Given the description of an element on the screen output the (x, y) to click on. 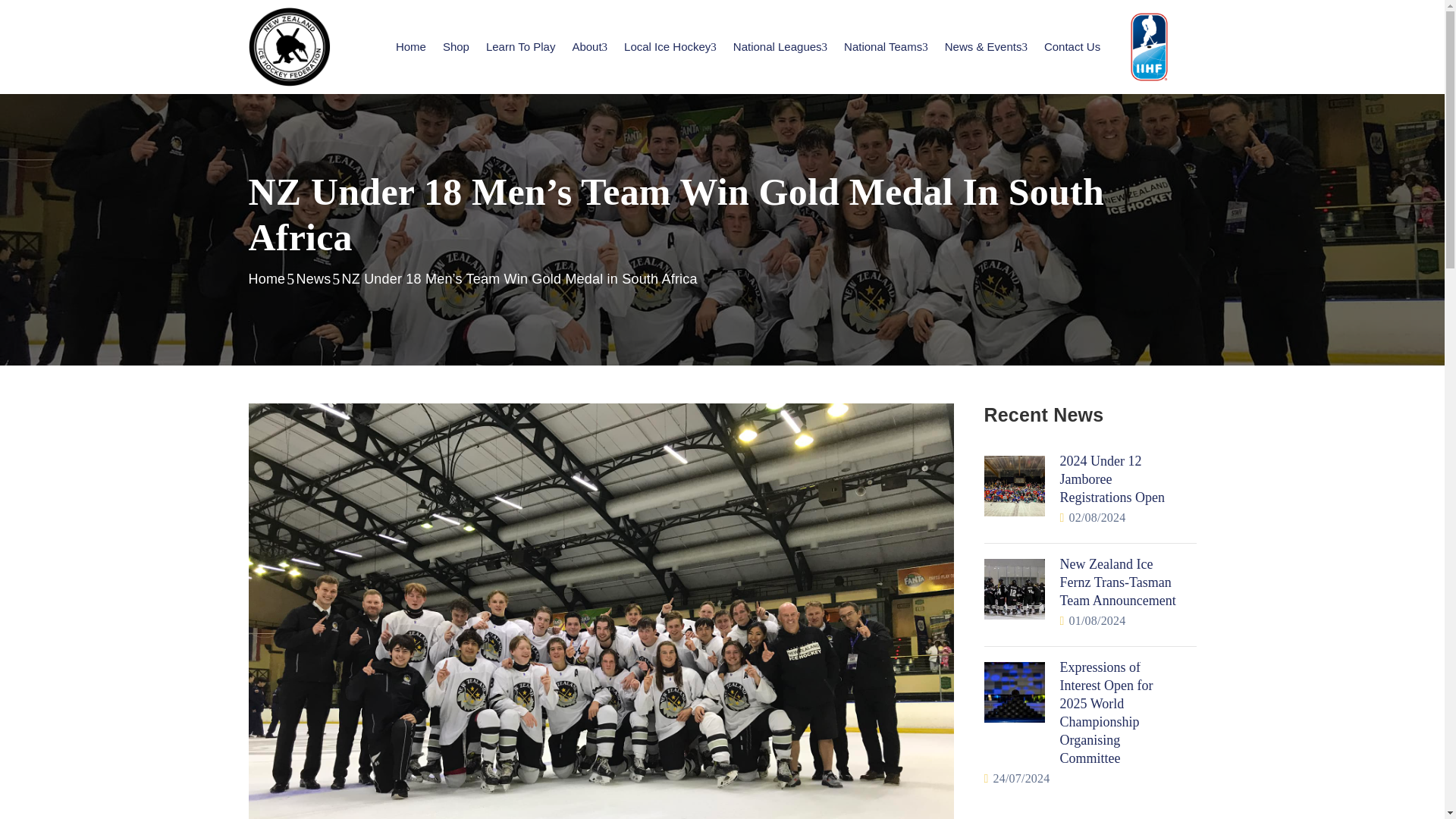
Local Ice Hockey (670, 46)
National Teams (885, 46)
Learn To Play (520, 46)
National Leagues (780, 46)
